Given the description of an element on the screen output the (x, y) to click on. 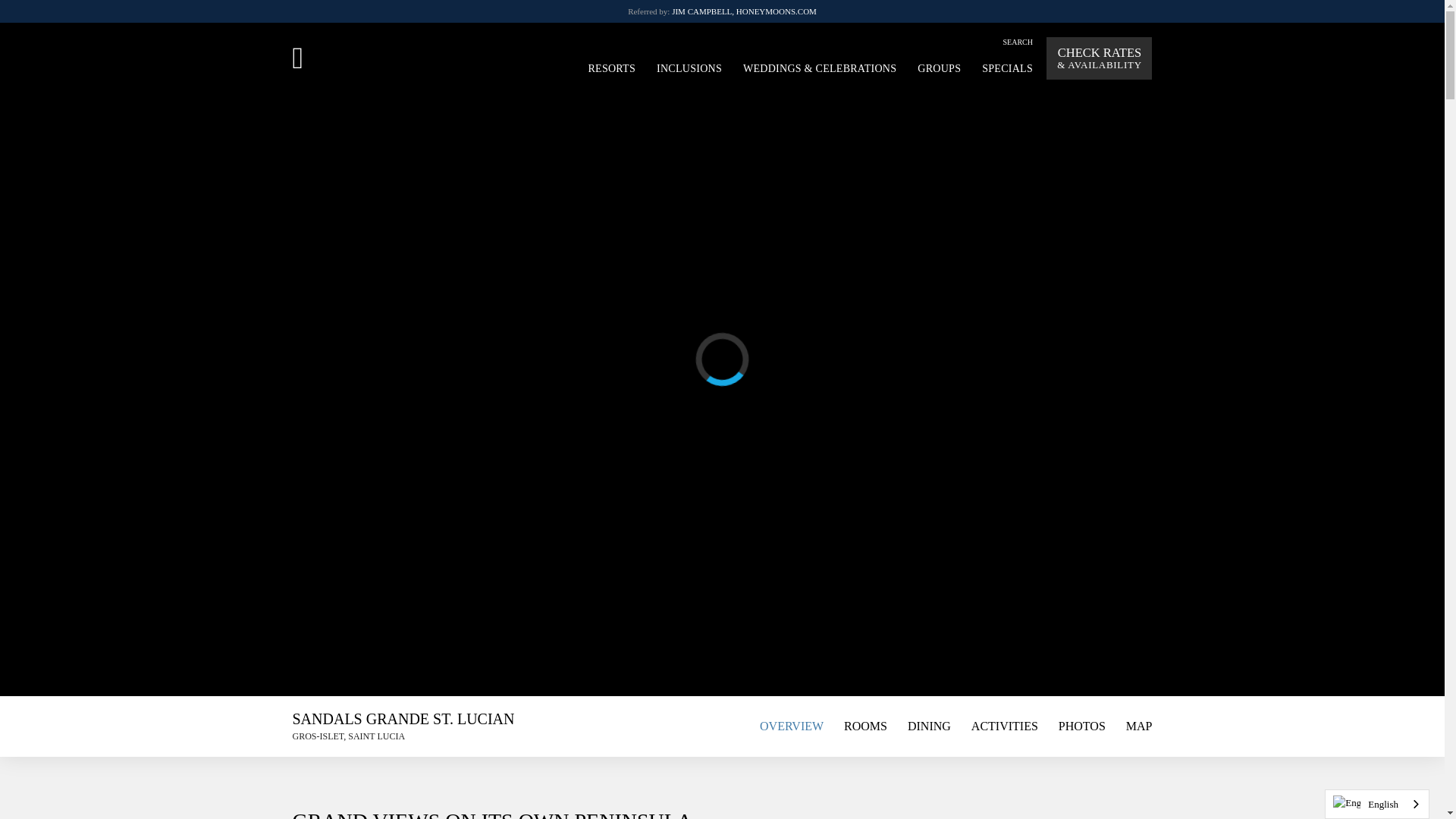
INCLUSIONS (689, 66)
RESORTS (611, 66)
SEARCH (1018, 40)
